Given the description of an element on the screen output the (x, y) to click on. 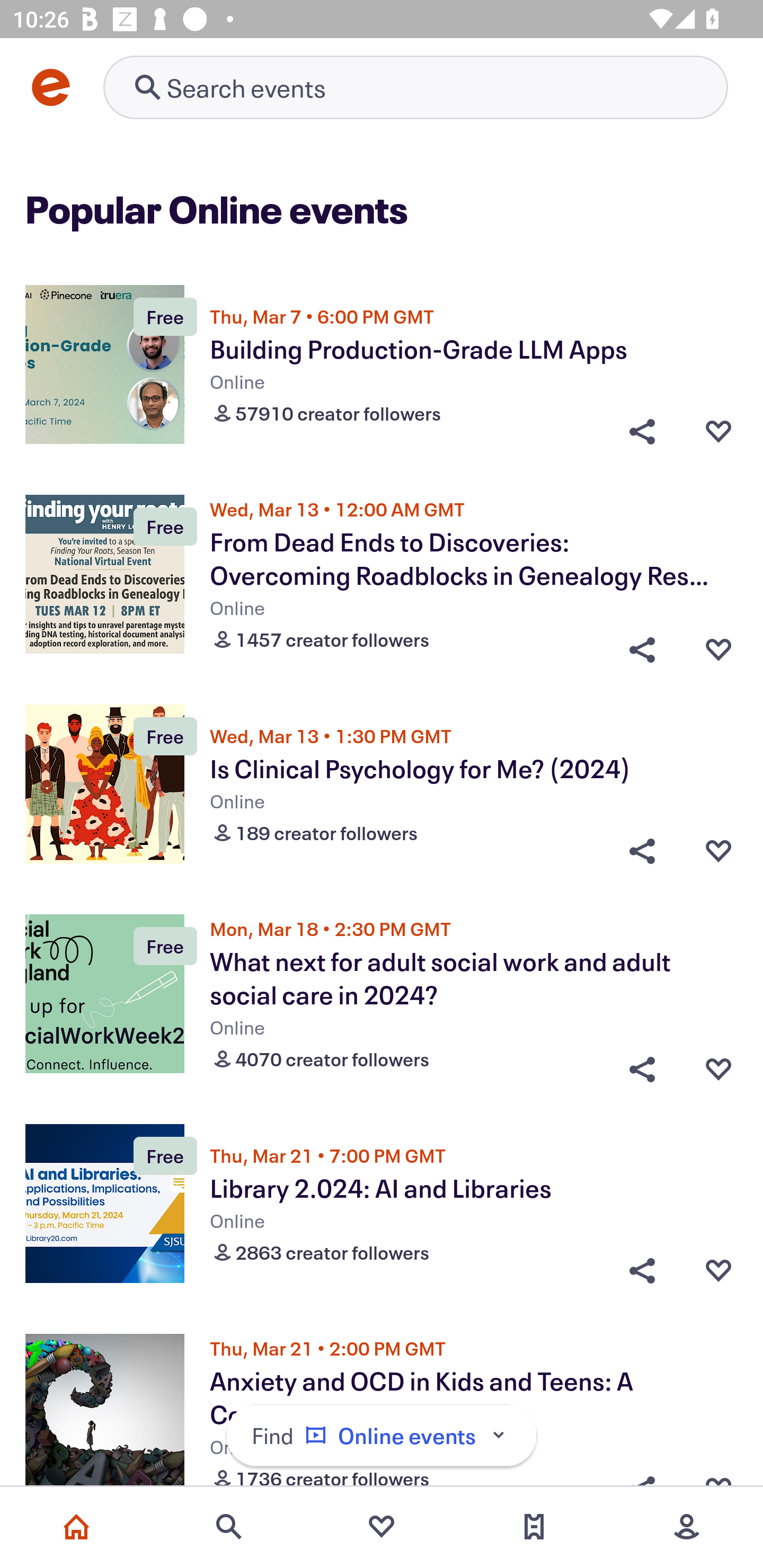
Retry's image Search events (415, 86)
Share button (642, 430)
Favorite button (718, 430)
Share button (642, 644)
Favorite button (718, 644)
Share button (642, 851)
Favorite button (718, 851)
Share button (642, 1065)
Favorite button (718, 1065)
Share button (642, 1269)
Favorite button (718, 1269)
Find Online events (381, 1435)
Home (76, 1526)
Search events (228, 1526)
Favorites (381, 1526)
Tickets (533, 1526)
More (686, 1526)
